Given the description of an element on the screen output the (x, y) to click on. 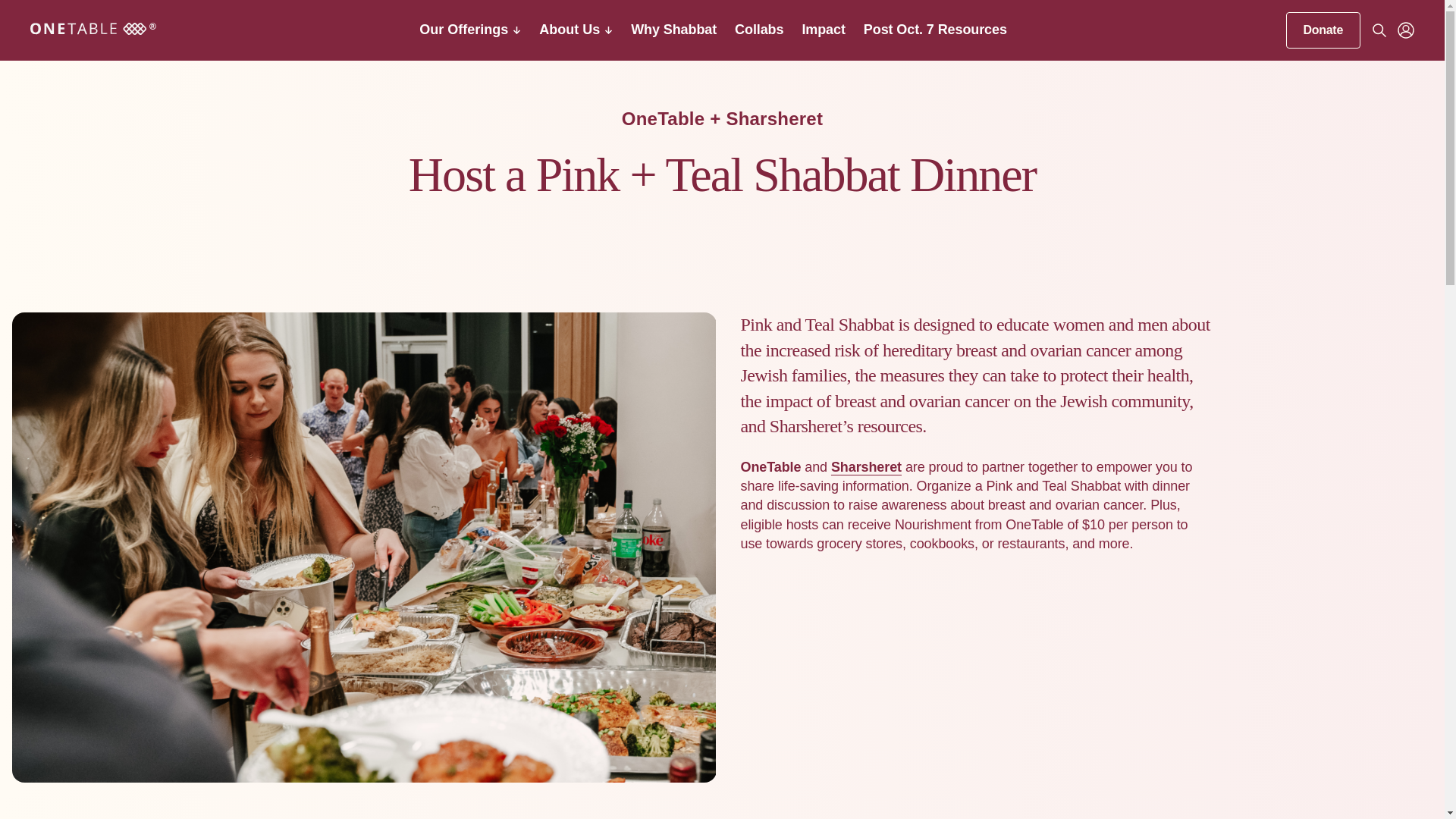
Impact (823, 29)
Post Oct. 7 Resources (935, 29)
About Us (575, 29)
Collabs (759, 29)
Why Shabbat (673, 29)
Donate (1322, 30)
Our Offerings (470, 29)
